Given the description of an element on the screen output the (x, y) to click on. 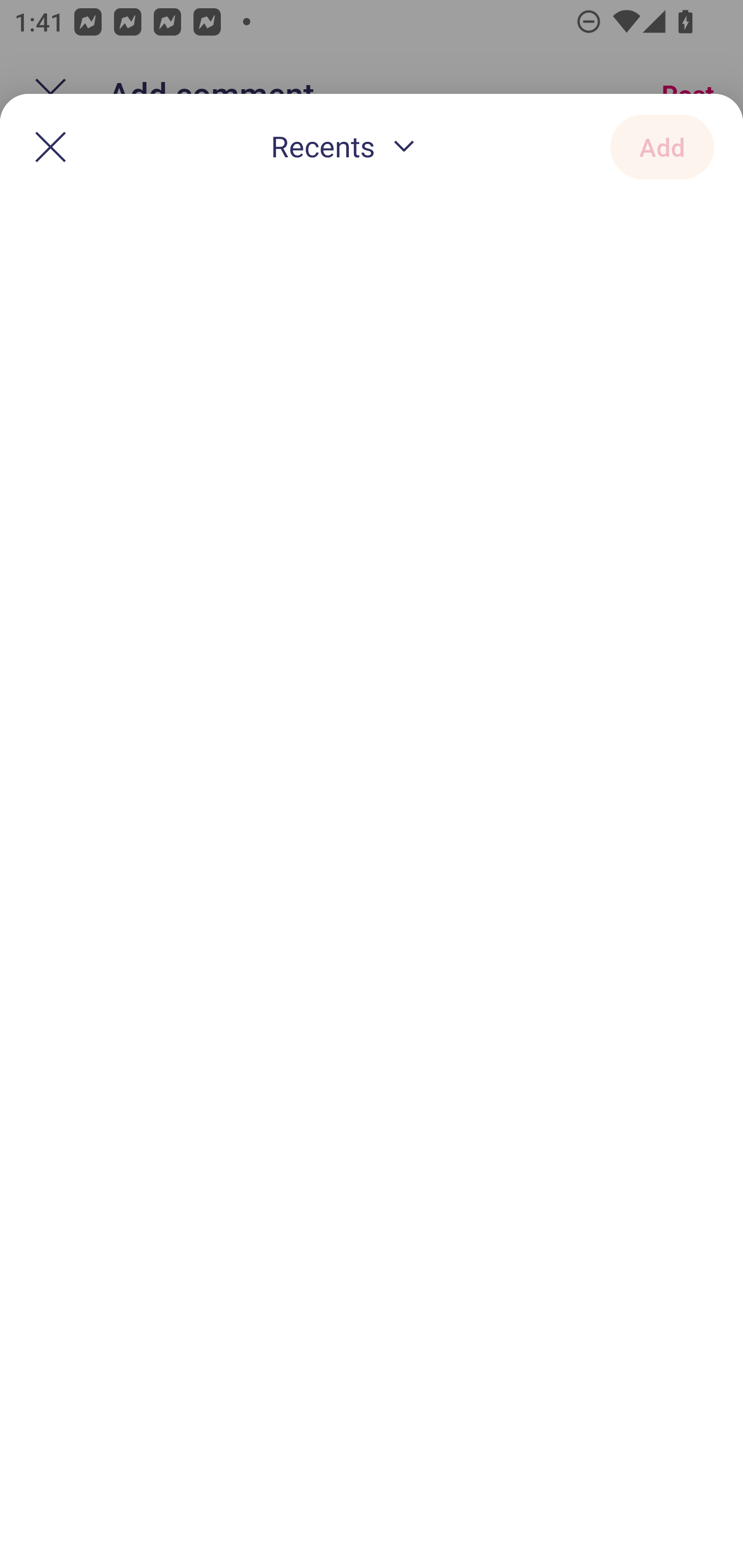
Selected folder: Recents Recents (346, 147)
Close (50, 146)
Add (662, 146)
